Given the description of an element on the screen output the (x, y) to click on. 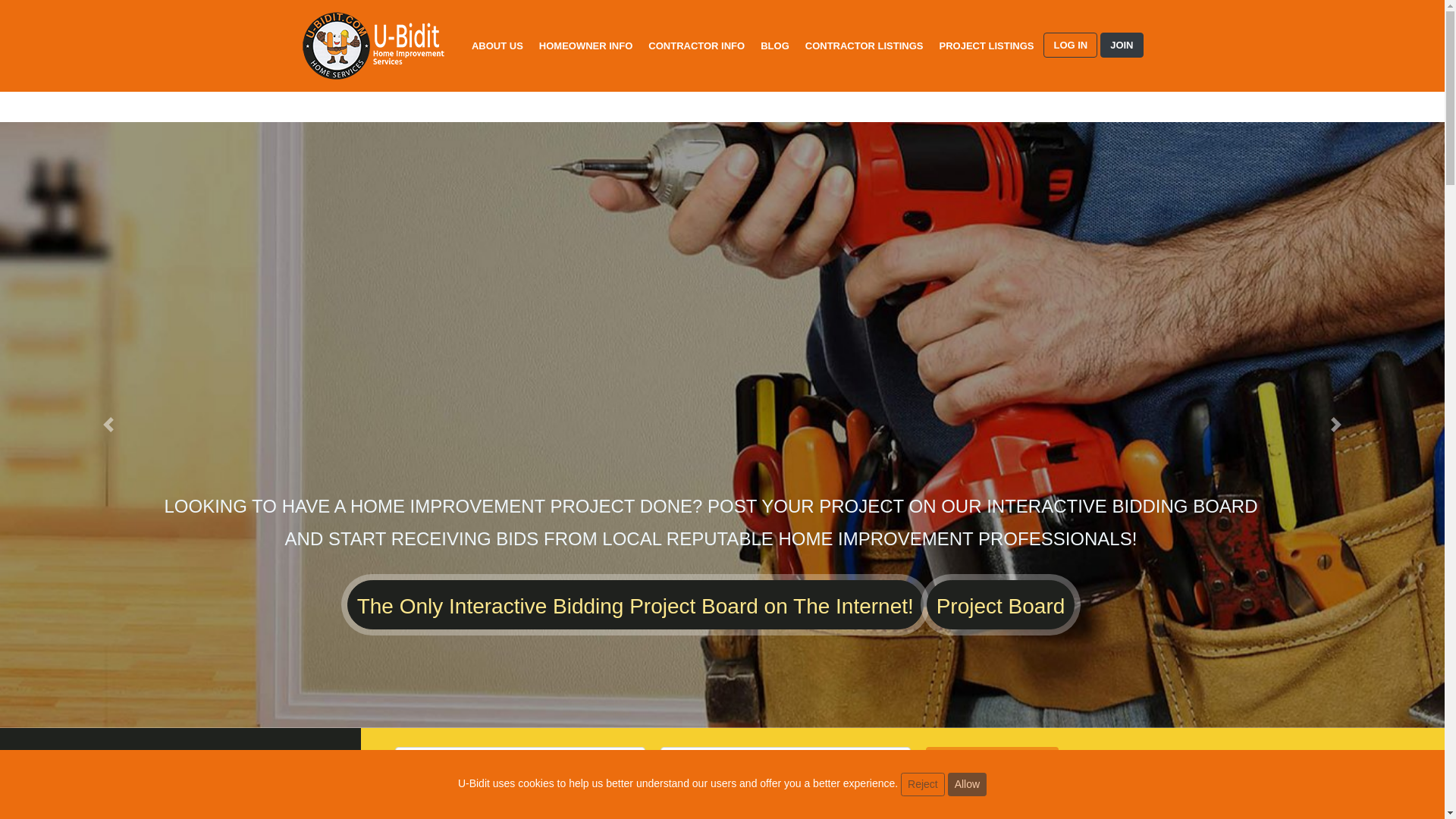
HOMEOWNER INFO (585, 45)
Project Board (1000, 604)
PROJECT LISTINGS (987, 45)
BLOG (774, 45)
The Only Interactive Bidding Project Board on The Internet! (635, 604)
CONTRACTOR INFO (696, 45)
JOIN (1121, 45)
CONTRACTOR LISTINGS (864, 45)
LOG IN (1070, 45)
Get Started Now! (992, 766)
ABOUT US (497, 45)
